Given the description of an element on the screen output the (x, y) to click on. 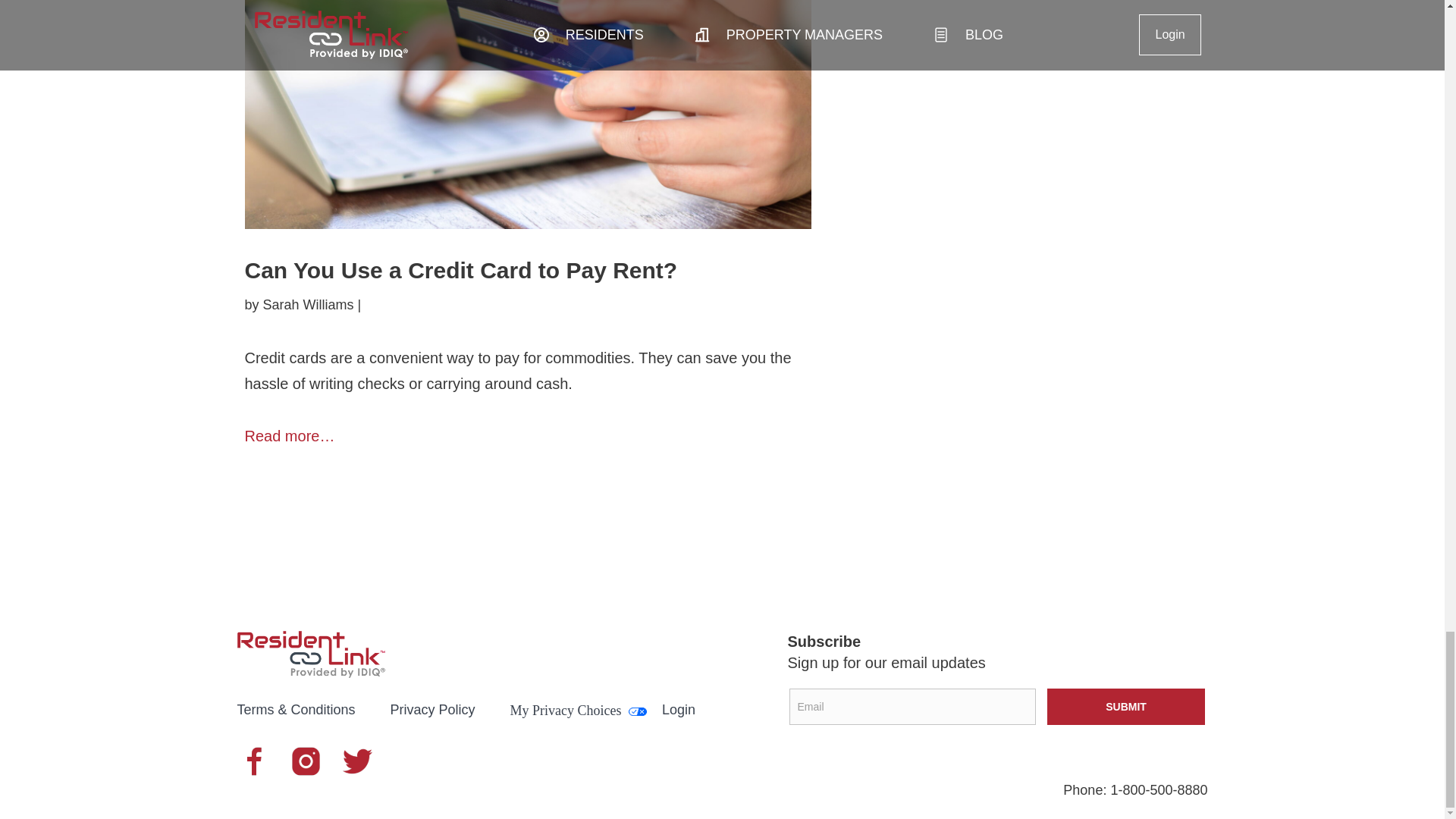
Can You Use a Credit Card to Pay Rent? (460, 269)
Submit (1125, 706)
